Given the description of an element on the screen output the (x, y) to click on. 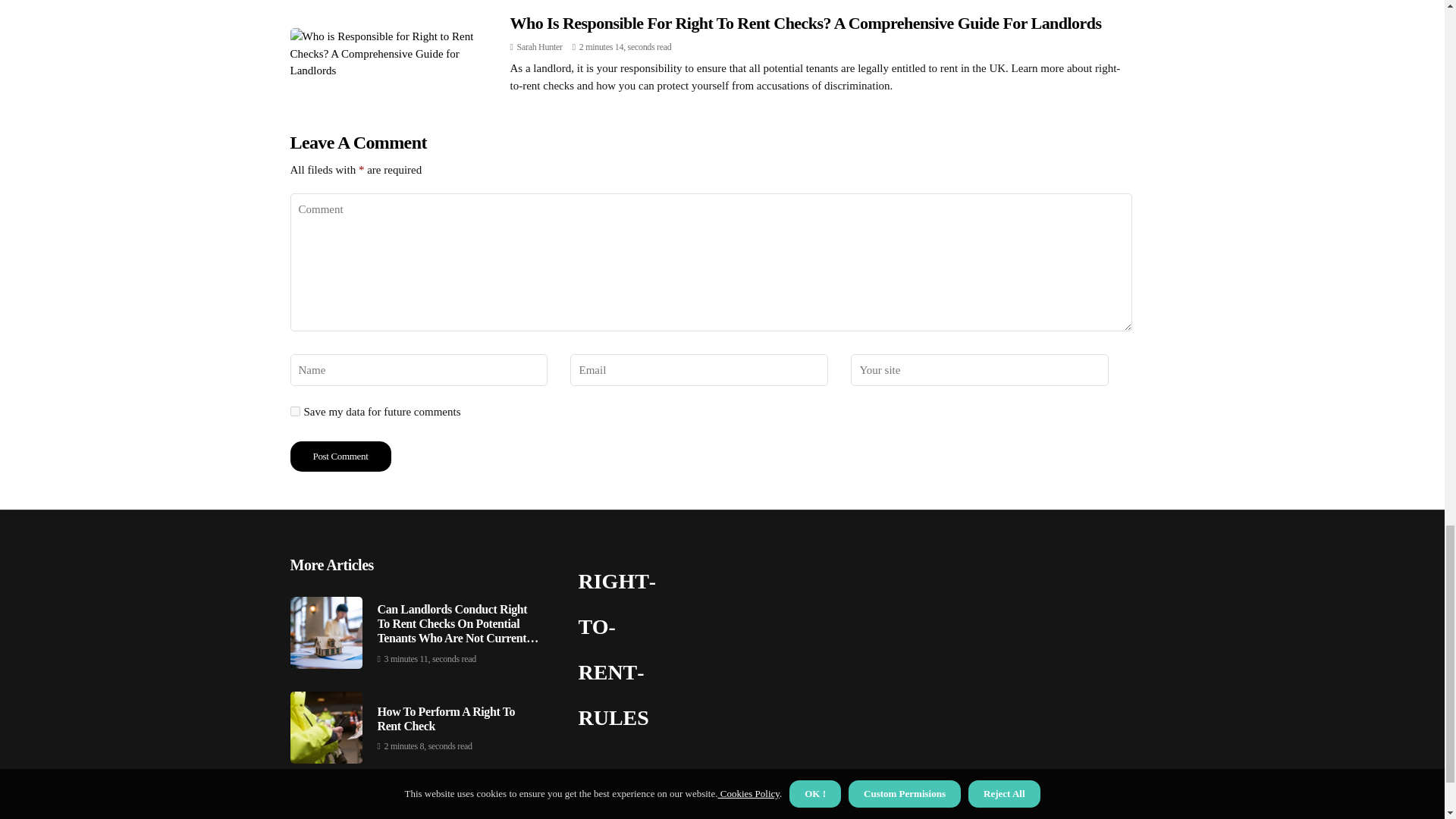
yes (294, 411)
Posts by Sarah Hunter (539, 46)
Post Comment (339, 456)
Sarah Hunter (539, 46)
Post Comment (339, 456)
